Given the description of an element on the screen output the (x, y) to click on. 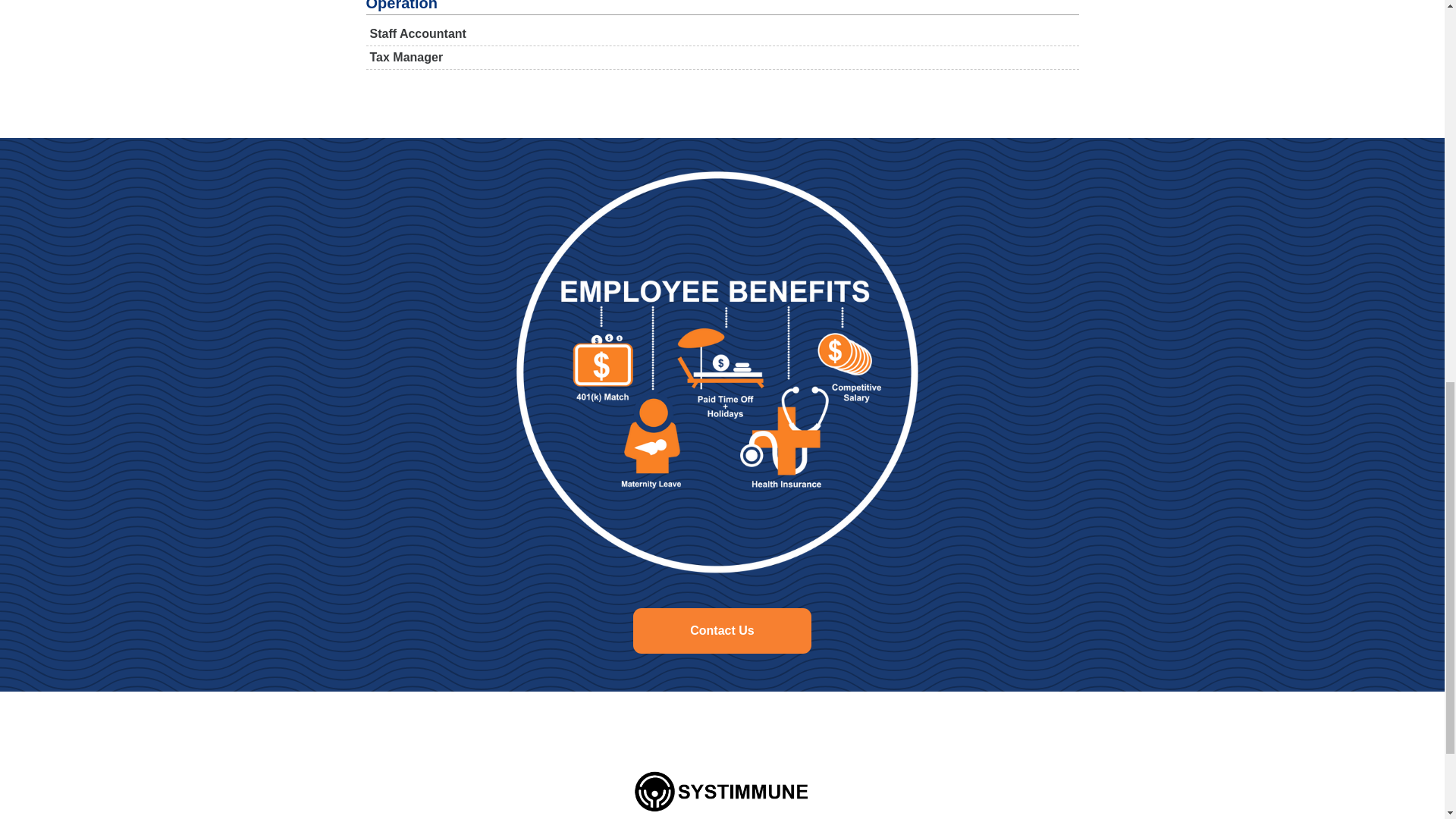
Tax Manager (721, 57)
Contact Us (721, 630)
Staff Accountant (721, 33)
